Given the description of an element on the screen output the (x, y) to click on. 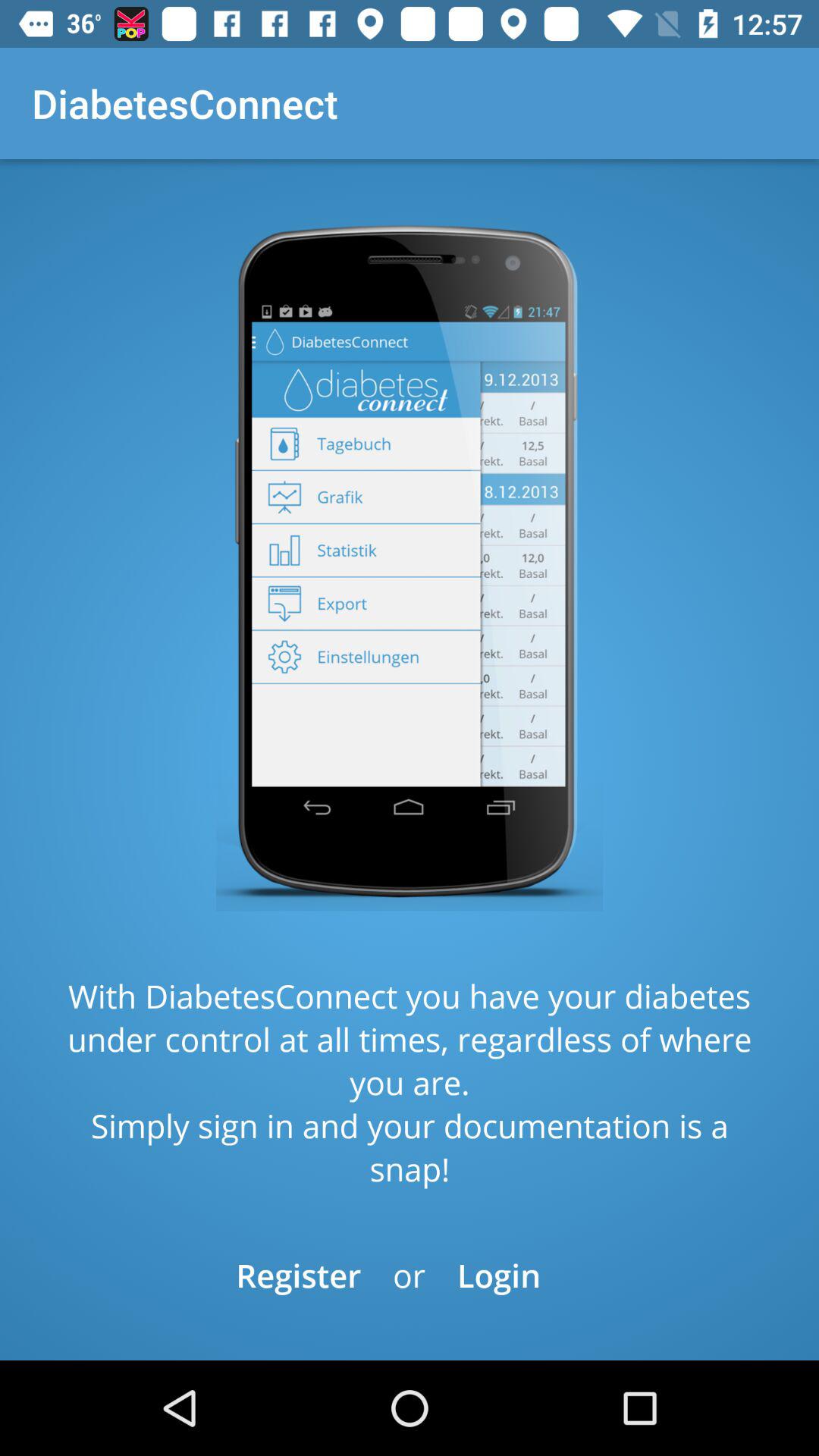
select icon next to the or item (498, 1275)
